Given the description of an element on the screen output the (x, y) to click on. 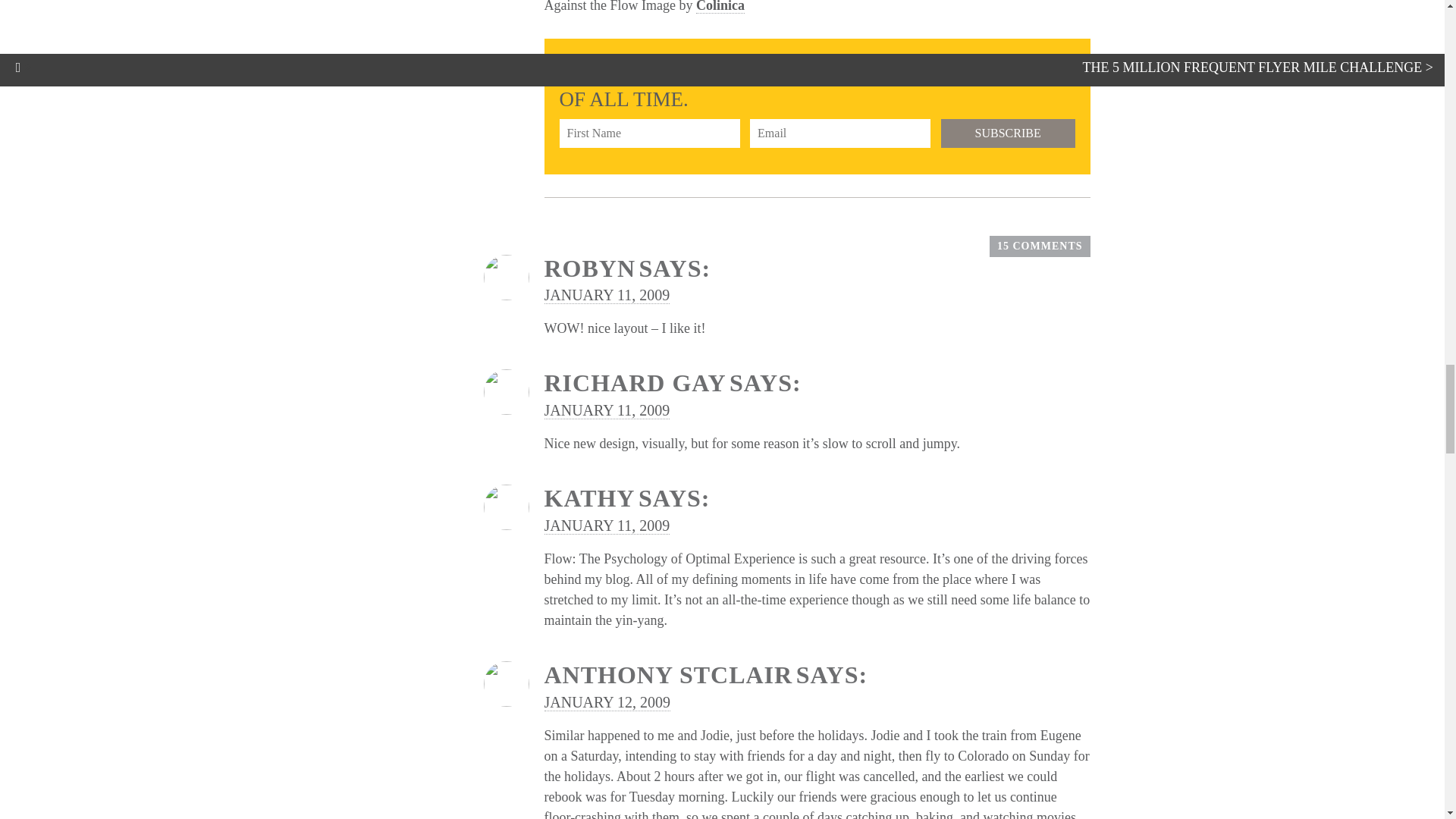
Colinica (719, 6)
JANUARY 11, 2009 (606, 410)
Subscribe (1007, 133)
Subscribe (1007, 133)
JANUARY 11, 2009 (606, 294)
